Given the description of an element on the screen output the (x, y) to click on. 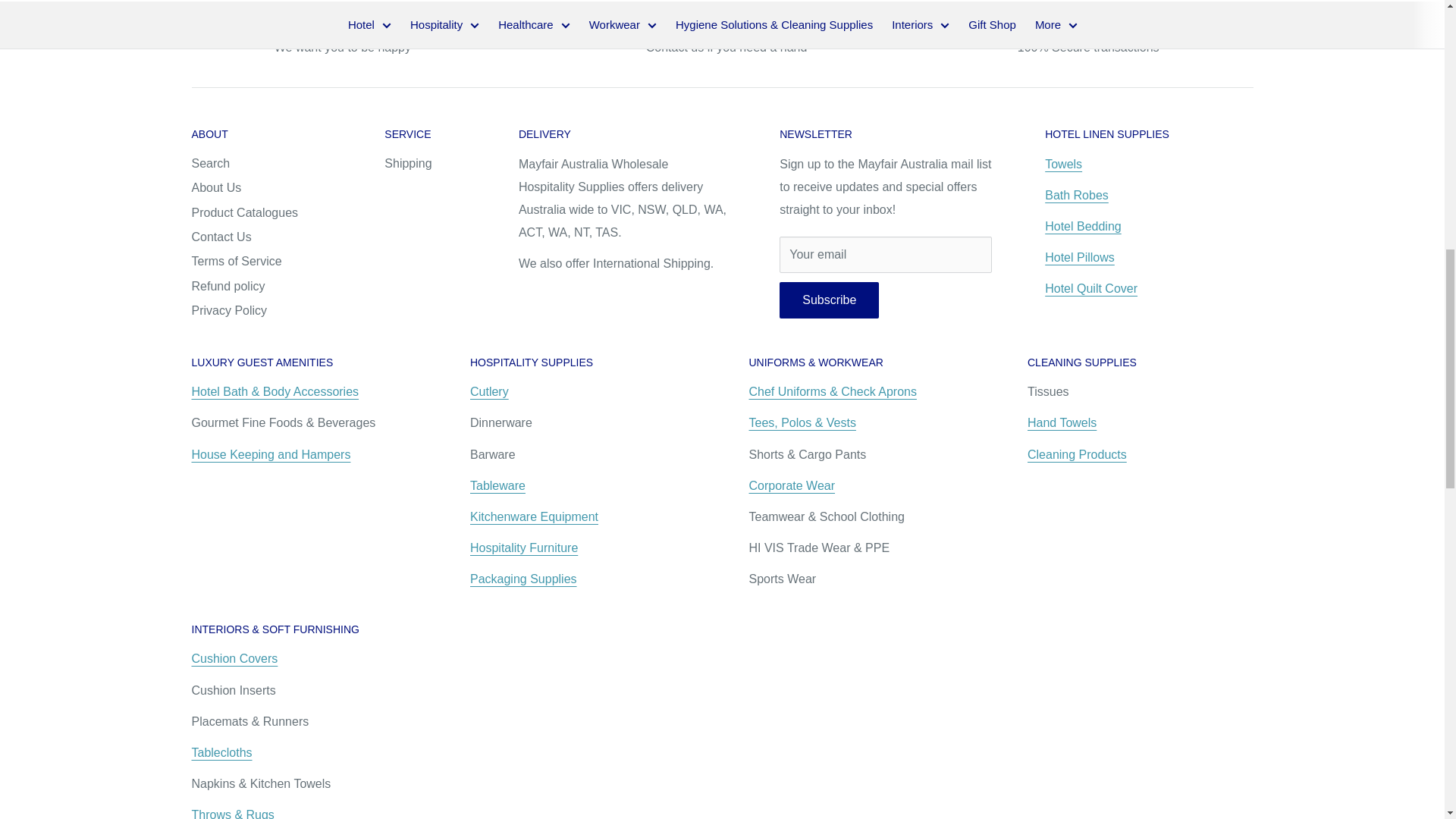
Commercial Hotel Pillows (1080, 256)
Towels (1063, 164)
Commercial Hotel Quilts (1091, 287)
Commercial Bath Robes (1076, 195)
